Given the description of an element on the screen output the (x, y) to click on. 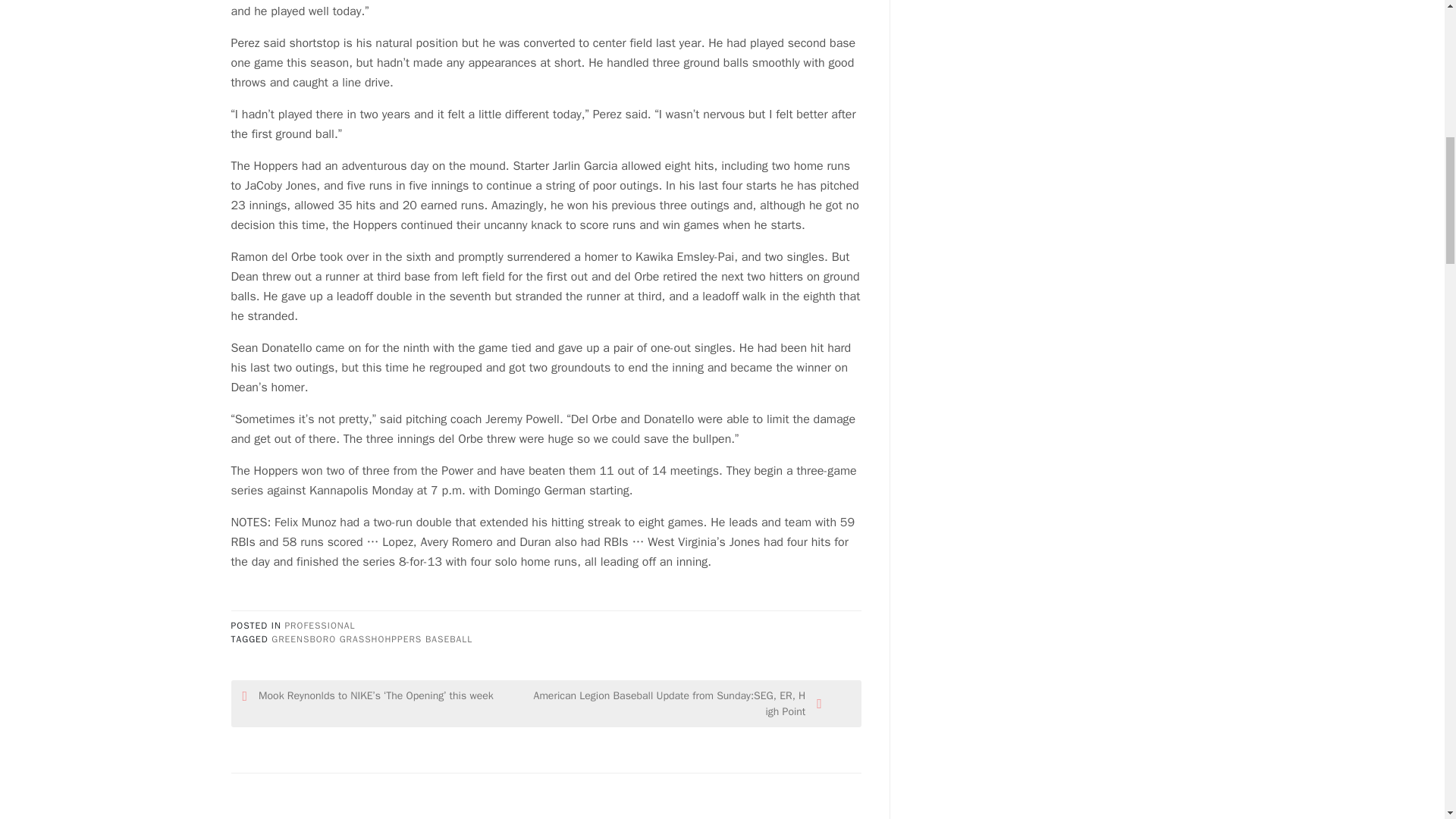
PROFESSIONAL (319, 625)
GREENSBORO GRASSHOHPPERS BASEBALL (370, 639)
